Given the description of an element on the screen output the (x, y) to click on. 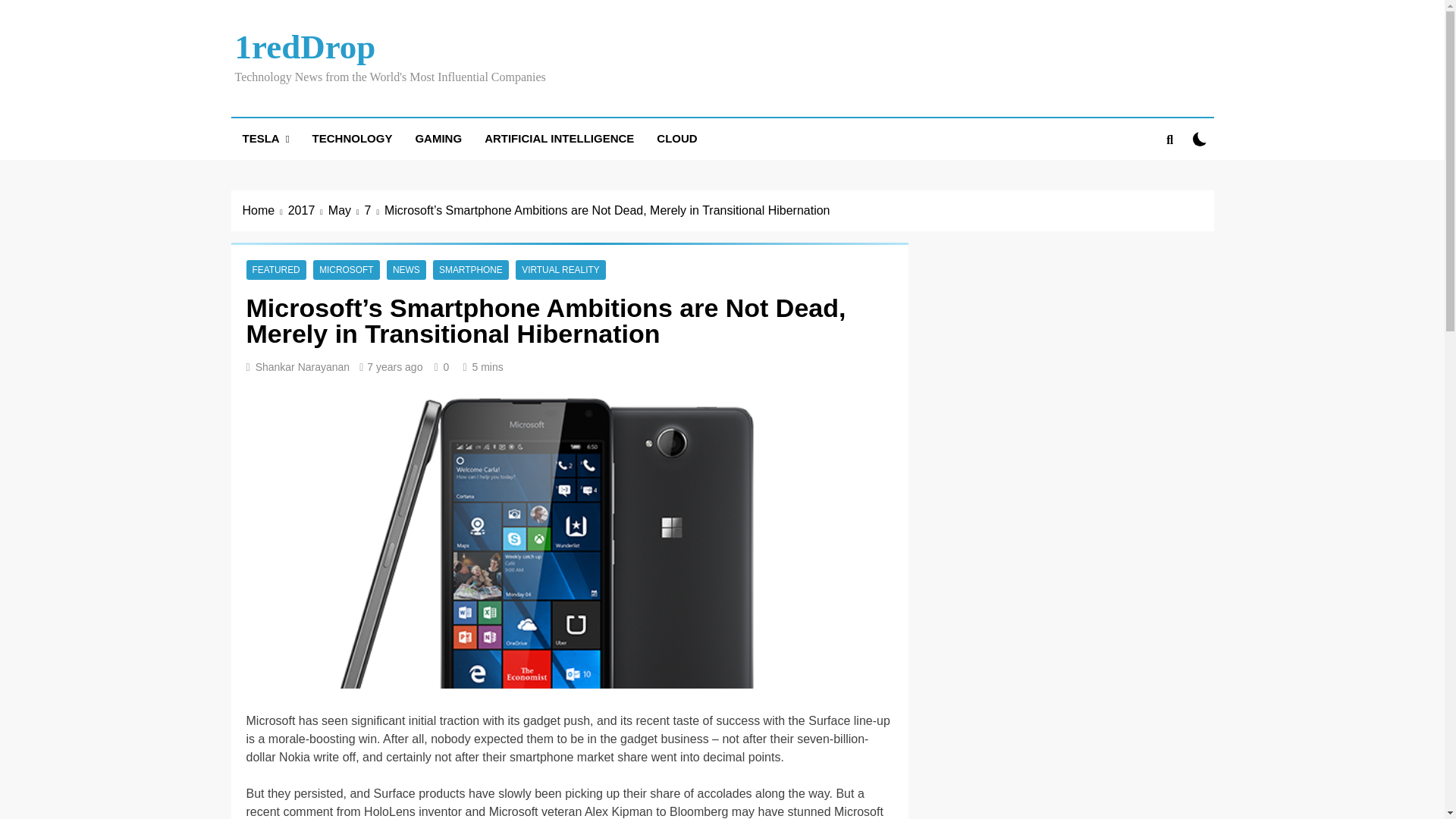
GAMING (438, 137)
Home (265, 210)
SMARTPHONE (470, 269)
Shankar Narayanan (303, 367)
1redDrop (304, 46)
TECHNOLOGY (352, 137)
NEWS (406, 269)
ARTIFICIAL INTELLIGENCE (559, 137)
May (347, 210)
TESLA (264, 138)
VIRTUAL REALITY (559, 269)
7 years ago (394, 367)
on (1199, 138)
7 (374, 210)
MICROSOFT (345, 269)
